Given the description of an element on the screen output the (x, y) to click on. 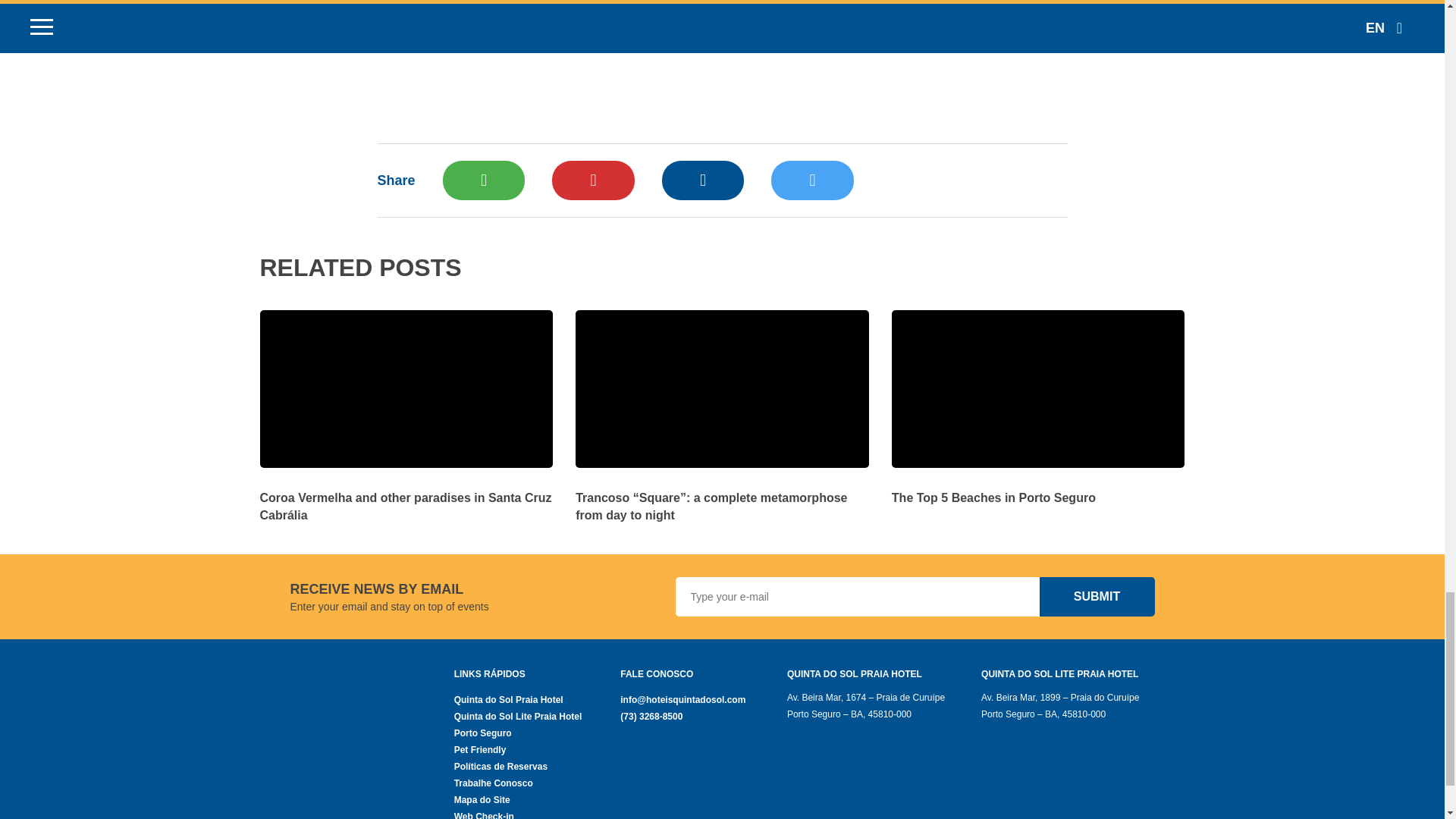
Saiba mais (406, 496)
Quinta do Sol Praia Hotel (537, 699)
The Top 5 Beaches in Porto Seguro (1038, 487)
WhatsApp (483, 179)
Twitter (812, 179)
Saiba mais (1038, 487)
Submit (1096, 596)
Submit (1096, 596)
Saiba mais (722, 496)
Facebook (703, 179)
Pinterest (592, 179)
